Given the description of an element on the screen output the (x, y) to click on. 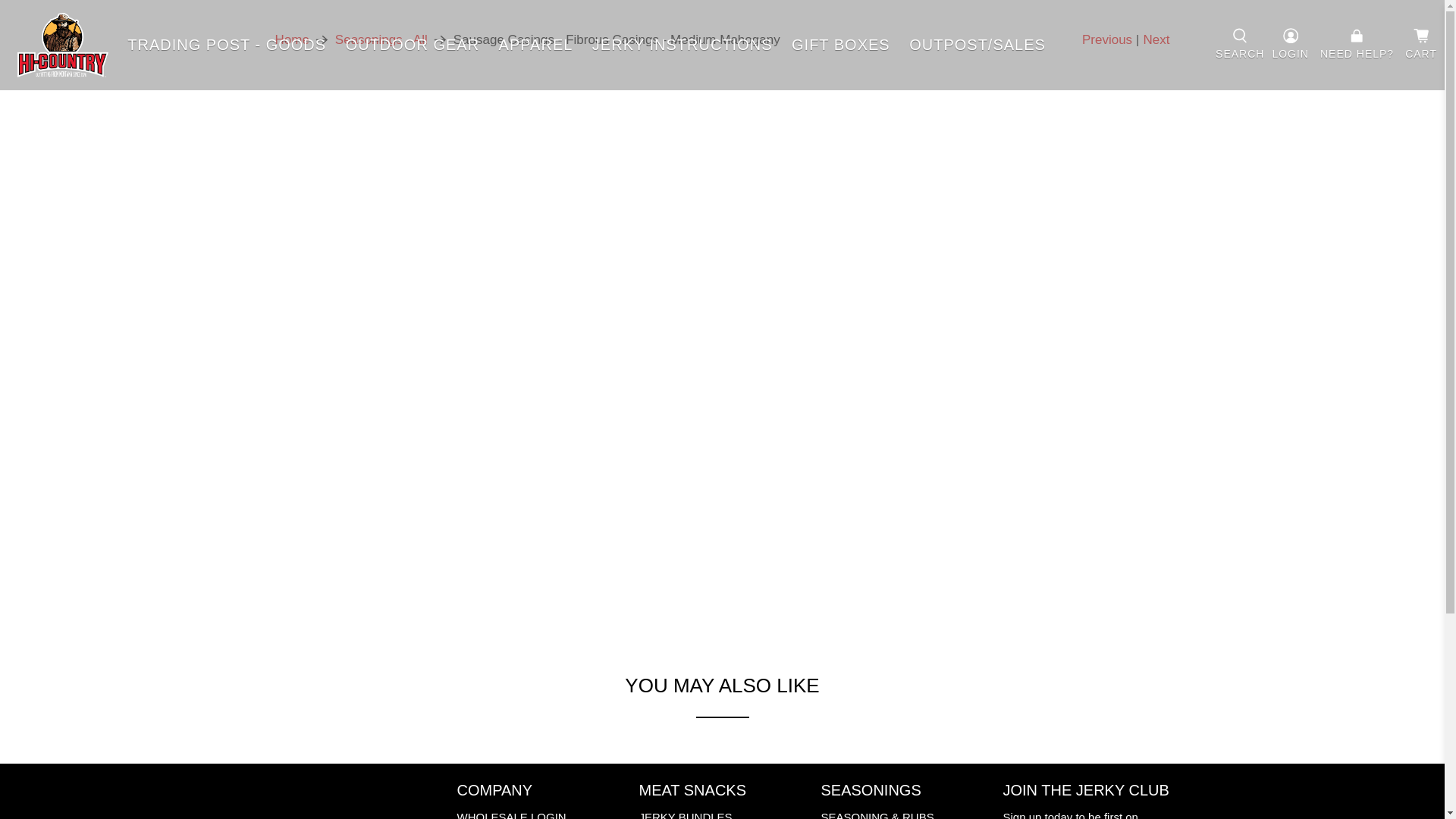
Next (1156, 39)
CART (1421, 45)
GIFT BOXES (840, 44)
OUTDOOR GEAR (412, 44)
Hi-Country Snack Foods Inc. (291, 39)
APPAREL (535, 44)
Hi-Country Snack Foods Inc. (62, 44)
JERKY INSTRUCTIONS (681, 44)
NEED HELP? (1356, 44)
TRADING POST - GOODS (226, 44)
